Given the description of an element on the screen output the (x, y) to click on. 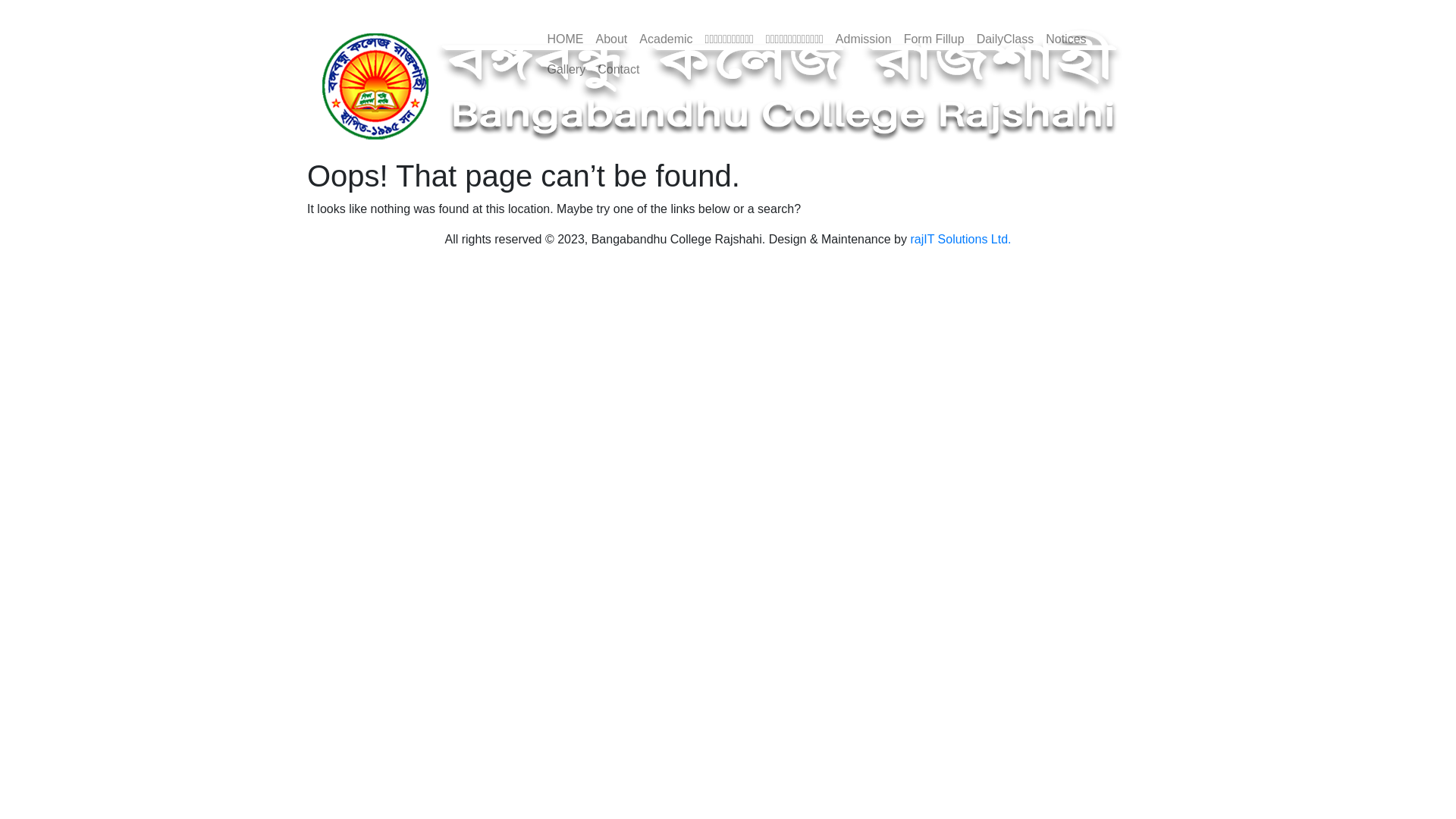
Notices Element type: text (1065, 39)
Academic Element type: text (665, 39)
Previous Element type: text (370, 9)
About Element type: text (611, 39)
Gallery Element type: text (566, 69)
Admission Element type: text (863, 39)
Next Element type: text (1085, 9)
rajIT Solutions Ltd. Element type: text (960, 238)
DailyClass Element type: text (1005, 39)
Form Fillup Element type: text (933, 39)
HOME Element type: text (565, 39)
Contact Element type: text (618, 69)
